Given the description of an element on the screen output the (x, y) to click on. 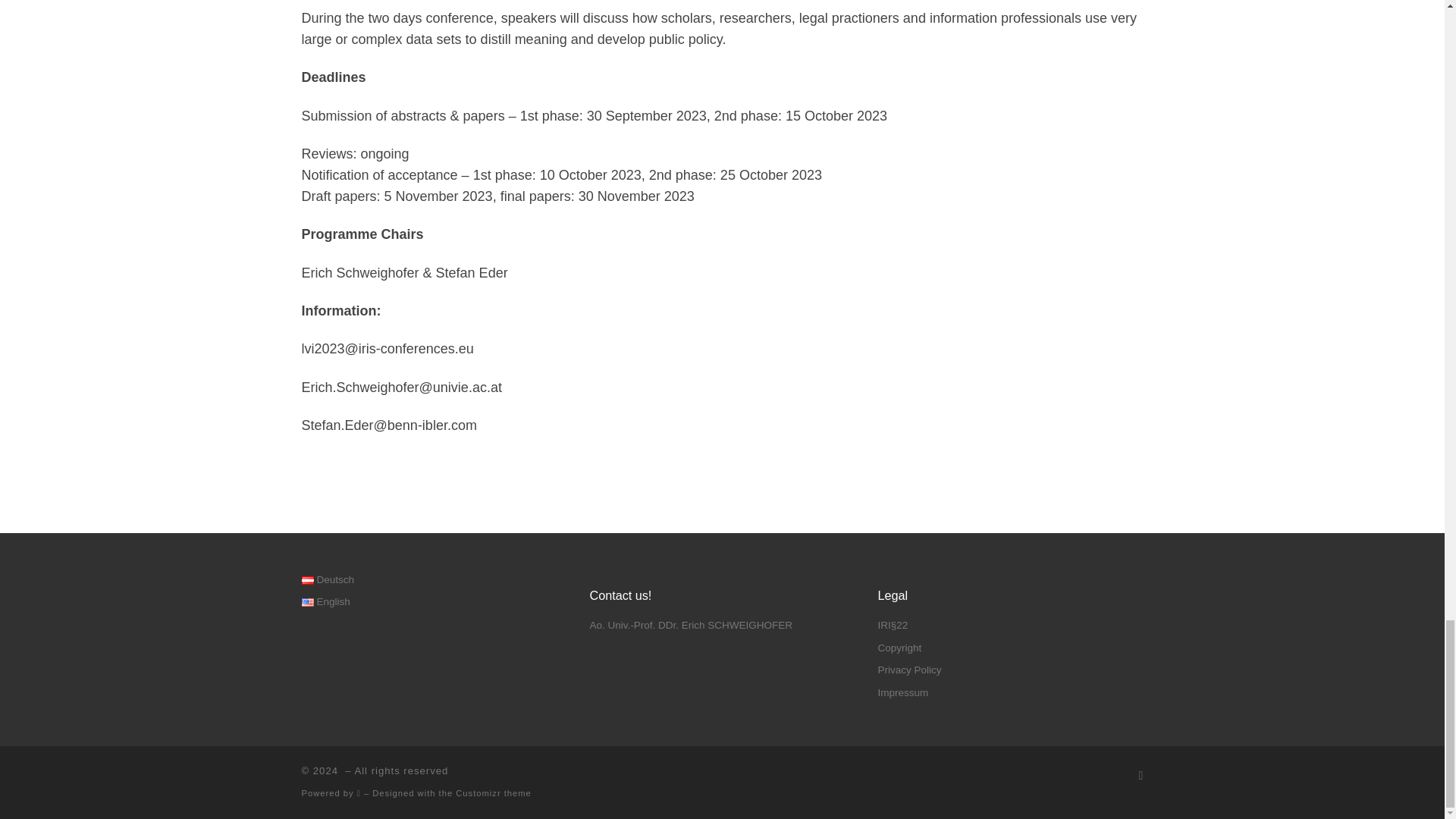
Customizr theme (493, 792)
Deutsch (307, 580)
English (307, 602)
